Given the description of an element on the screen output the (x, y) to click on. 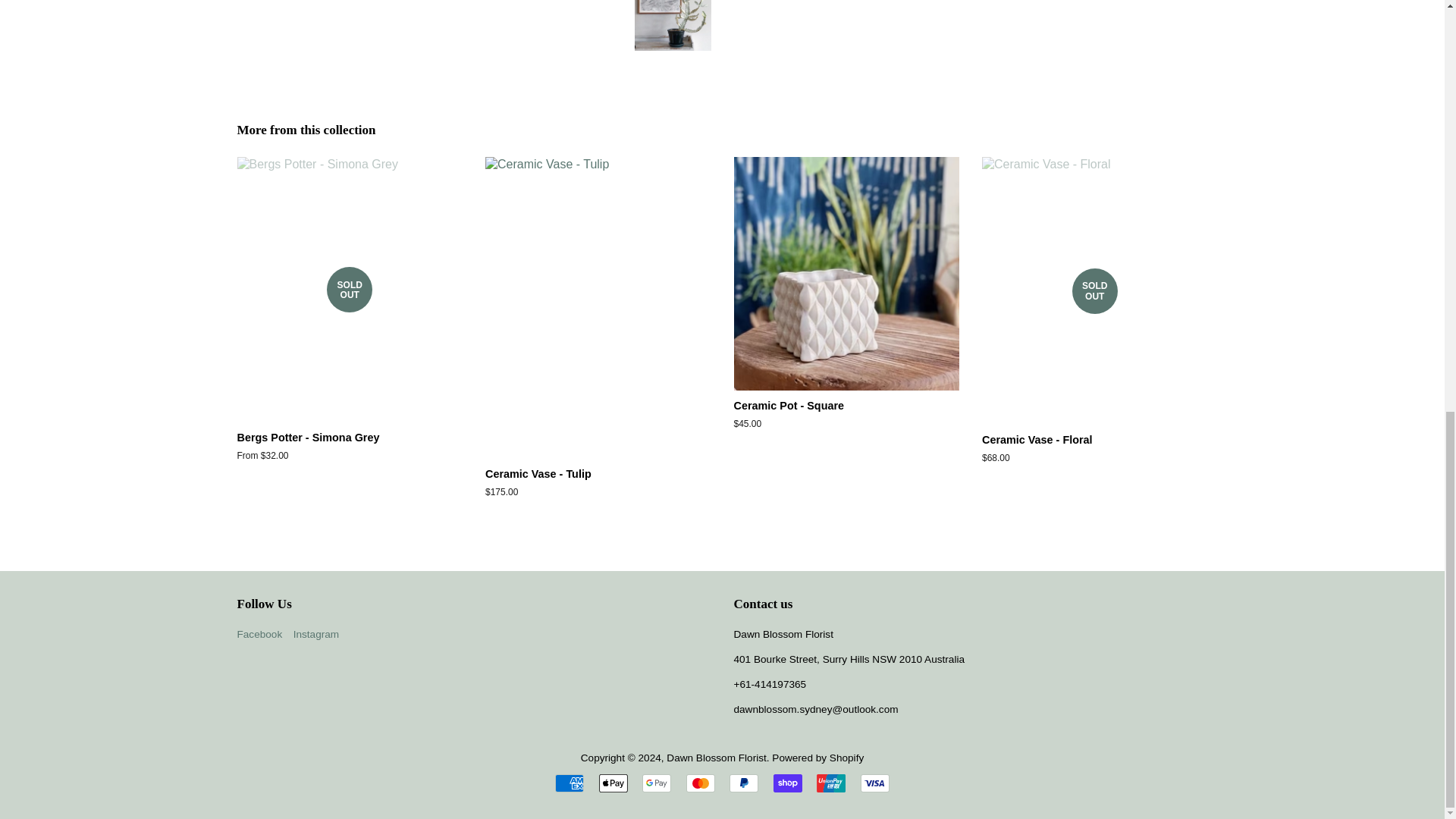
Shop Pay (787, 782)
Dawn Blossom Florist on Instagram (316, 633)
Dawn Blossom Florist on Facebook (258, 633)
PayPal (743, 782)
Google Pay (656, 782)
Union Pay (830, 782)
Apple Pay (612, 782)
Mastercard (699, 782)
Visa (874, 782)
American Express (568, 782)
